Given the description of an element on the screen output the (x, y) to click on. 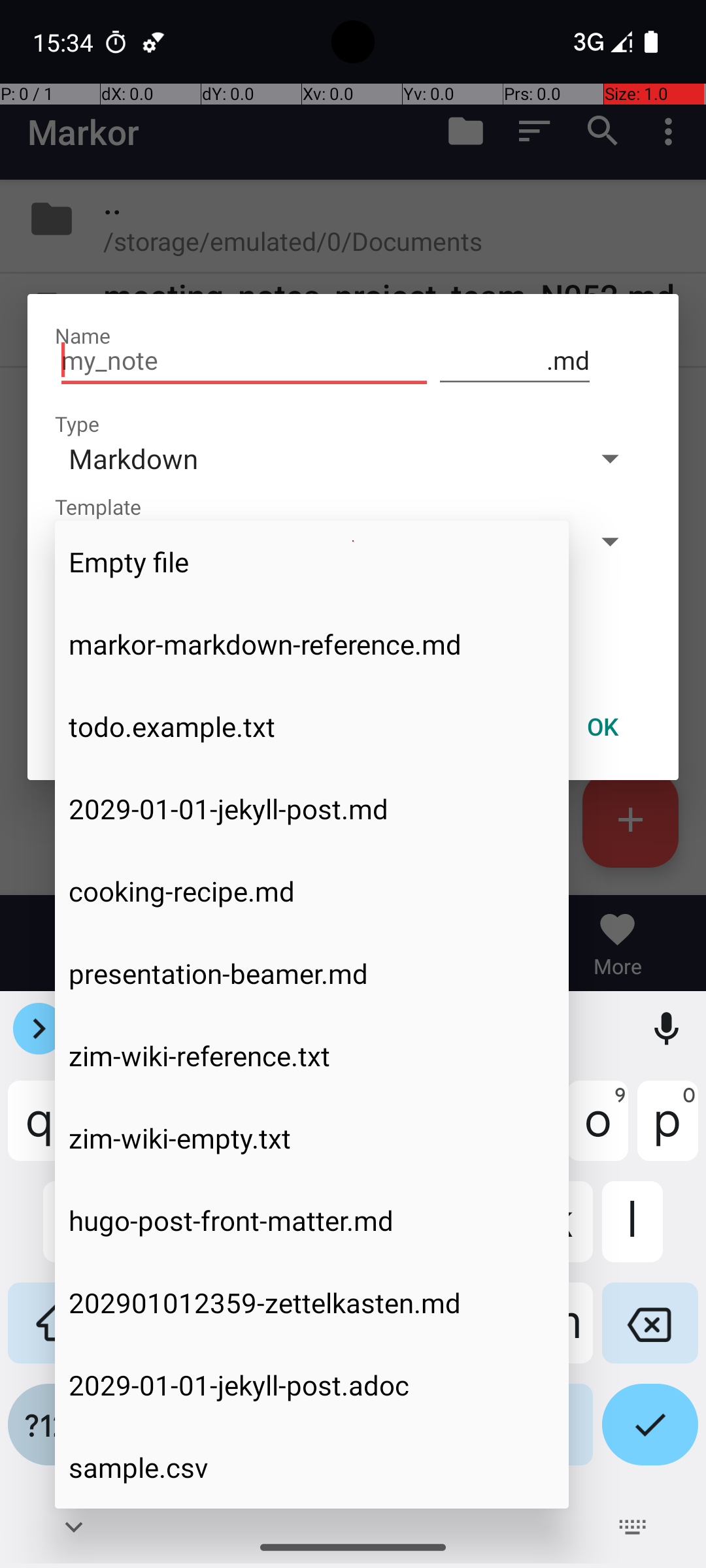
todo.example.txt Element type: android.widget.CheckedTextView (311, 726)
presentation-beamer.md Element type: android.widget.CheckedTextView (311, 973)
zim-wiki-reference.txt Element type: android.widget.CheckedTextView (311, 1055)
hugo-post-front-matter.md Element type: android.widget.CheckedTextView (311, 1220)
sample.csv Element type: android.widget.CheckedTextView (311, 1467)
